Given the description of an element on the screen output the (x, y) to click on. 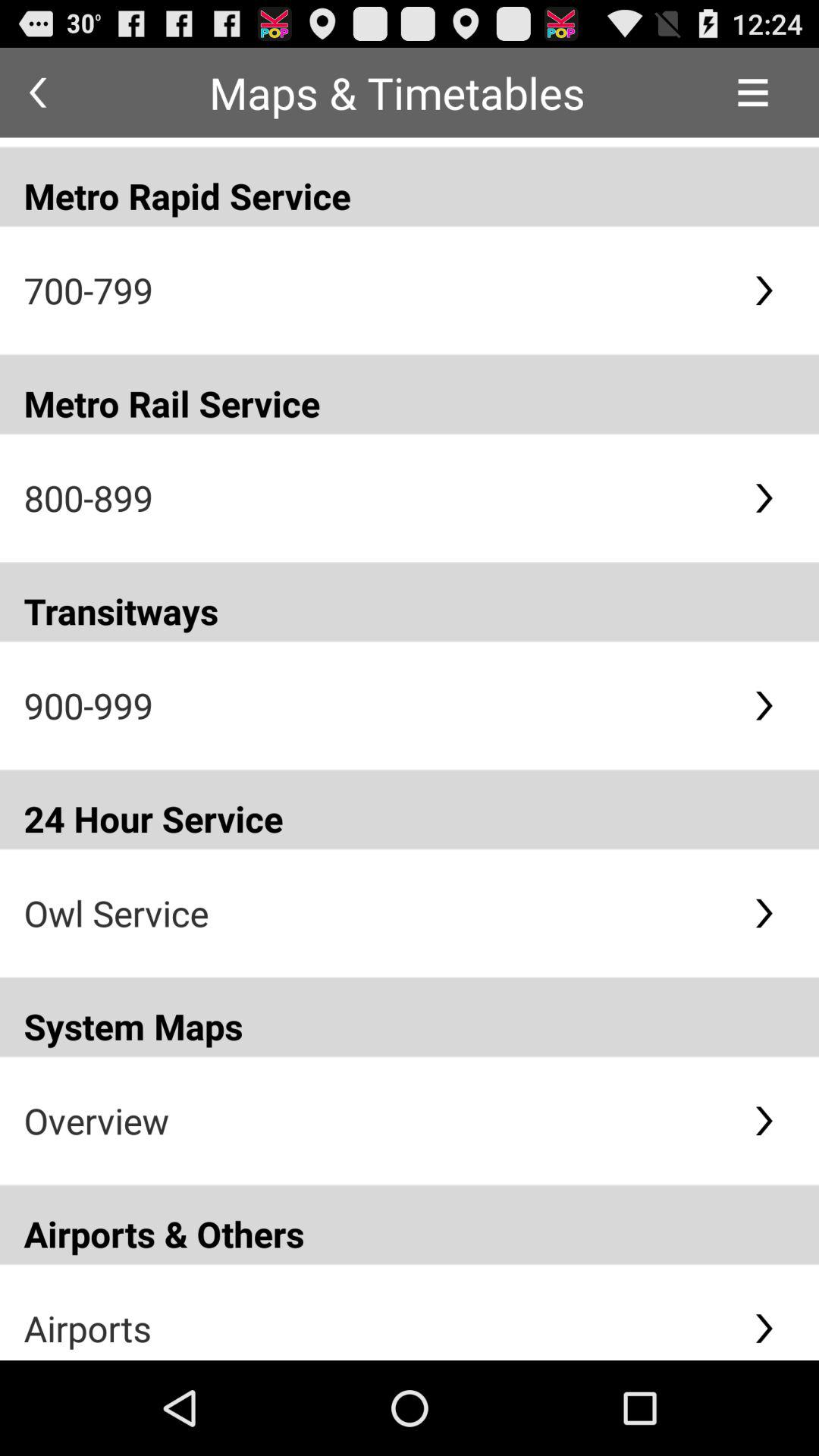
tap the 800-899 item (376, 497)
